Given the description of an element on the screen output the (x, y) to click on. 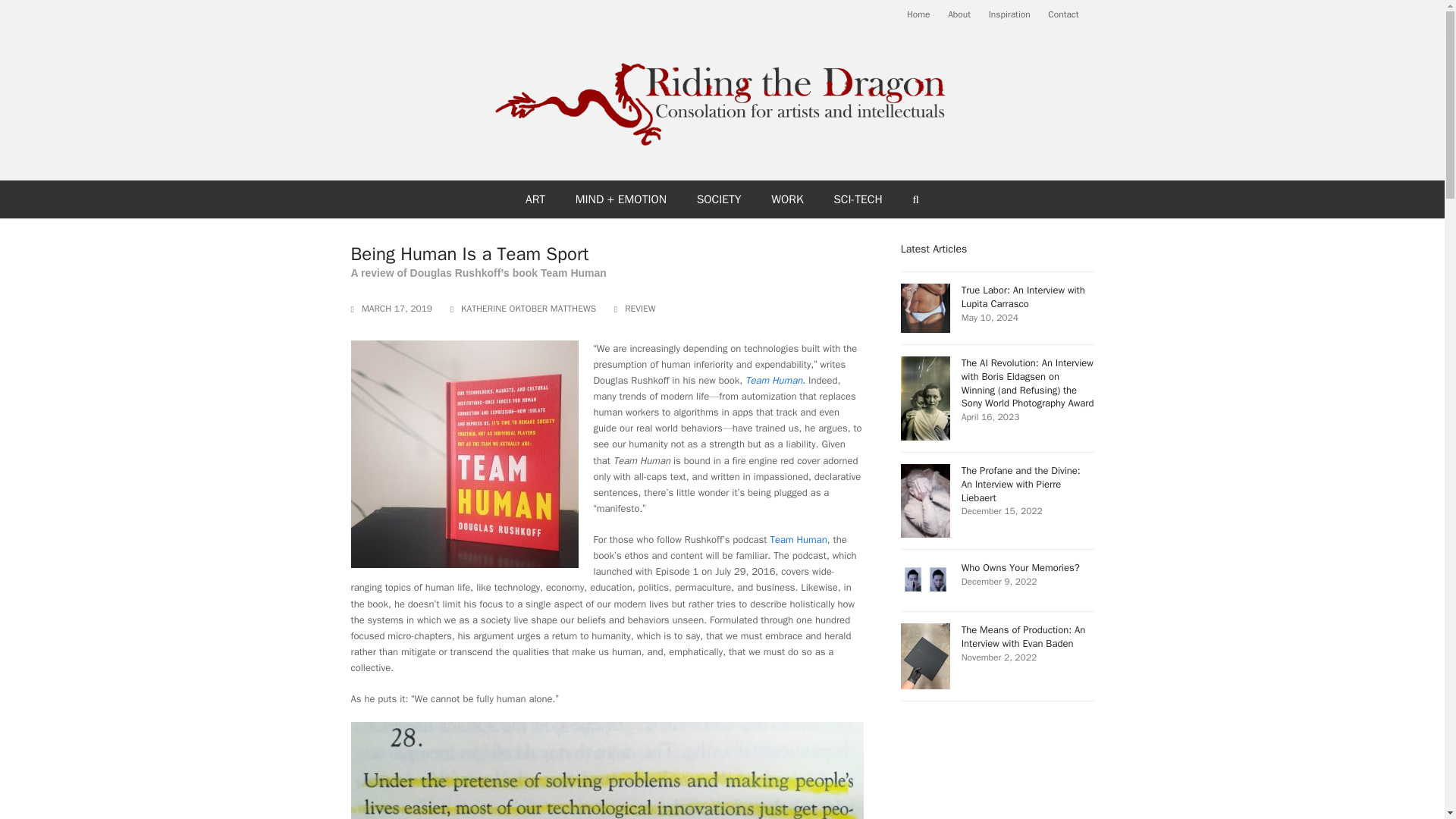
REVIEW (639, 309)
SOCIETY (718, 199)
Contact (1063, 14)
SCI-TECH (858, 199)
Posts by Katherine Oktober Matthews (528, 308)
Team Human (798, 539)
KATHERINE OKTOBER MATTHEWS (528, 308)
Team Human (773, 379)
About (959, 14)
Home (997, 580)
Inspiration (918, 14)
WORK (1009, 14)
